Given the description of an element on the screen output the (x, y) to click on. 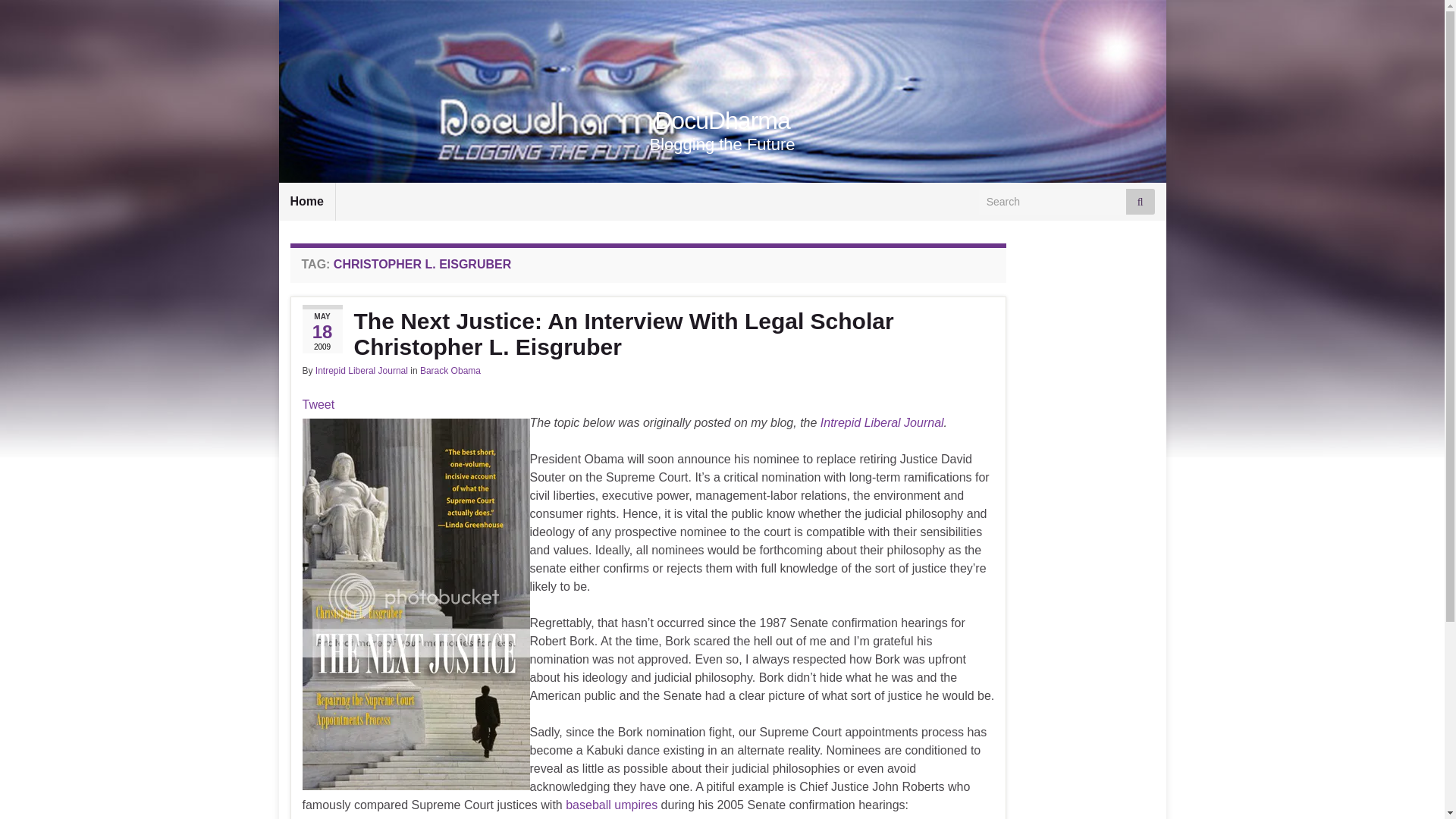
Tweet (317, 404)
DocuDharma (721, 120)
Home (306, 201)
Intrepid Liberal Journal (361, 370)
baseball umpires (612, 804)
Go back to the front page (721, 120)
Barack Obama (450, 370)
Intrepid Liberal Journal (882, 422)
